Given the description of an element on the screen output the (x, y) to click on. 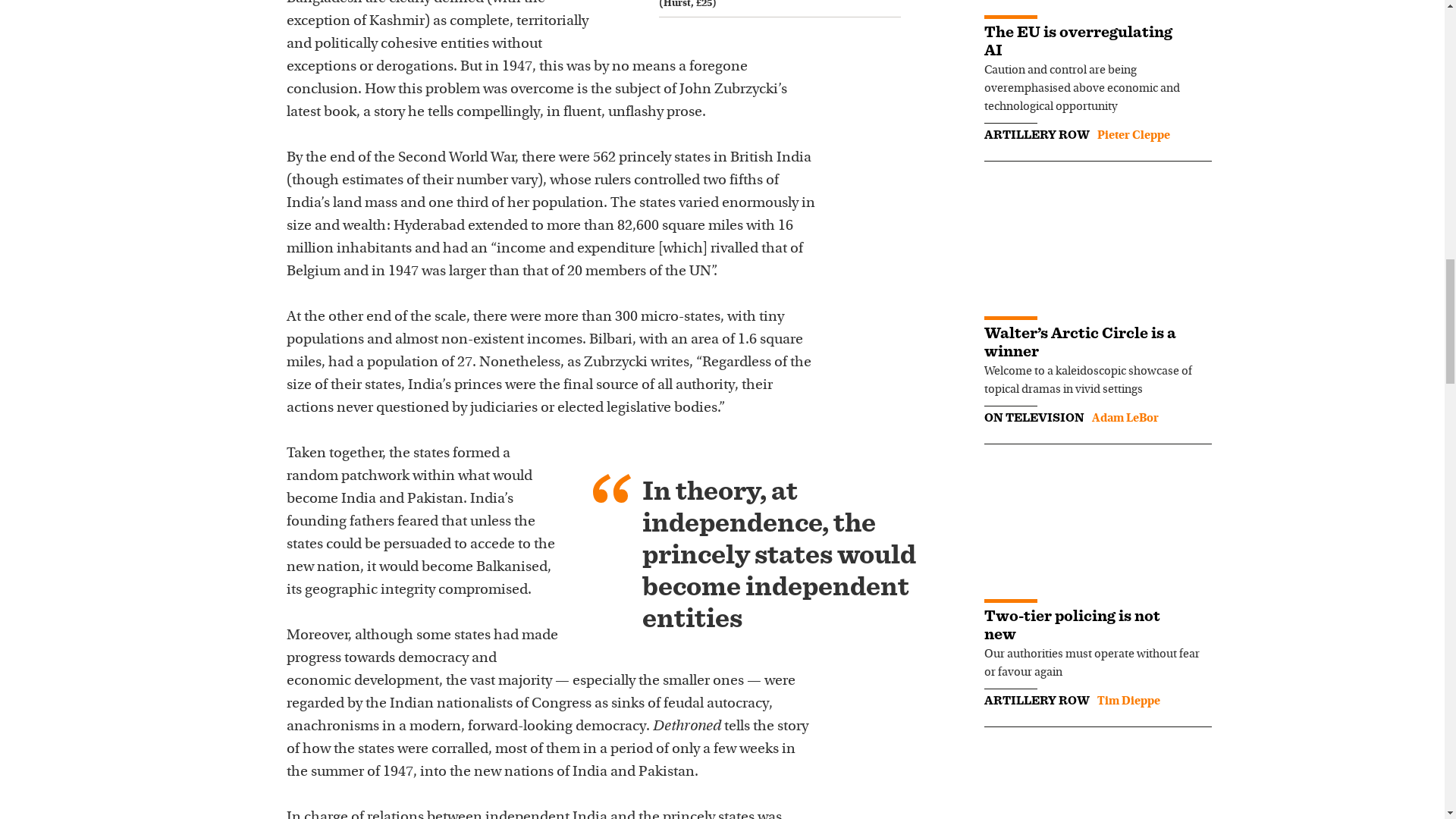
Posts by Pieter Cleppe (1132, 135)
Posts by Tim Dieppe (1127, 701)
Posts by Adam LeBor (1125, 418)
